Given the description of an element on the screen output the (x, y) to click on. 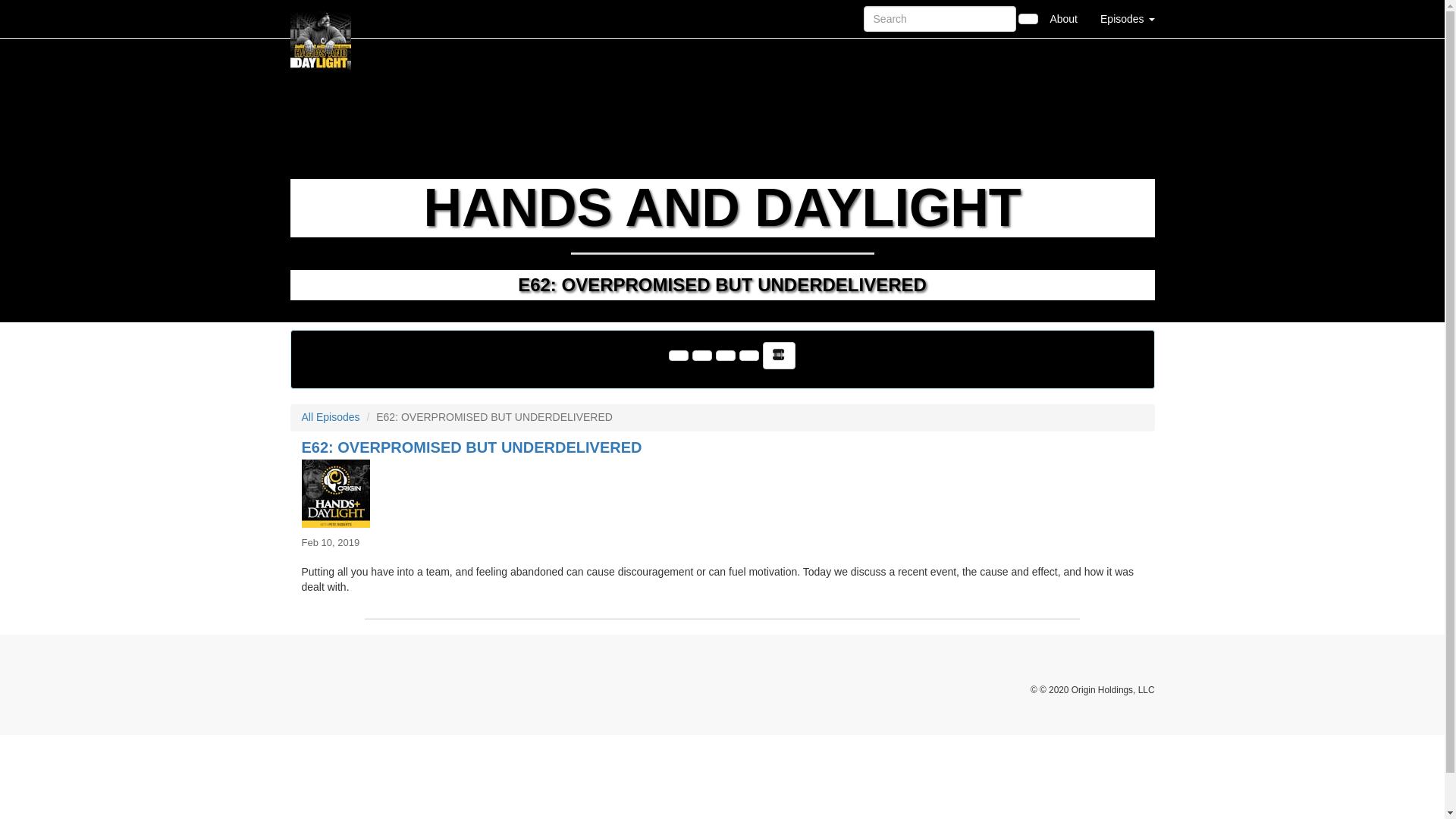
Home Page (320, 18)
E62: OVERPROMISED BUT UNDERDELIVERED (721, 493)
Episodes (1127, 18)
About (1063, 18)
